Given the description of an element on the screen output the (x, y) to click on. 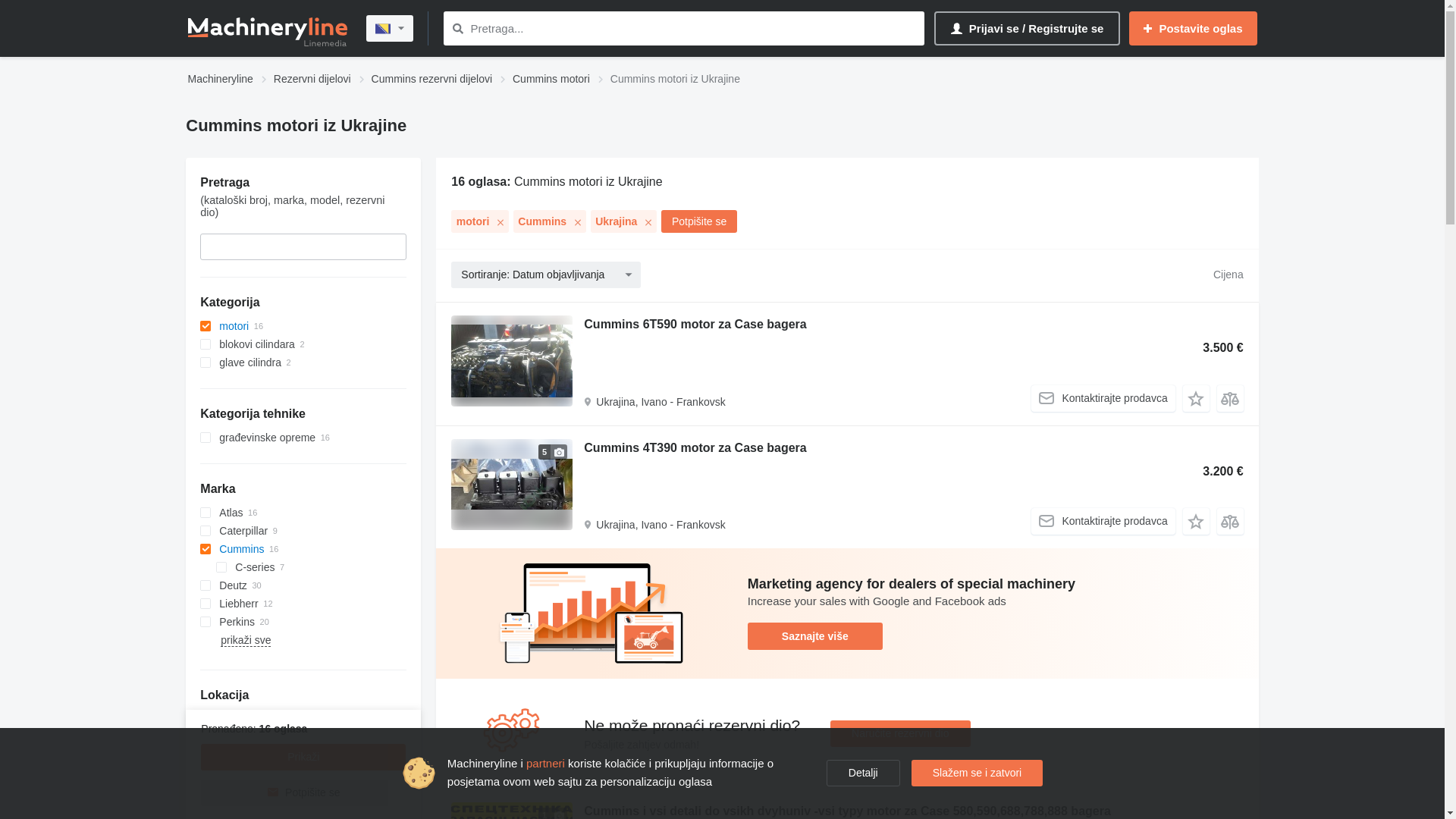
Cummins motori Element type: text (550, 79)
Cummins 4T390 motor za Case bagera Element type: text (694, 449)
Uporediti Element type: hover (1230, 398)
Dodati u izabrano Element type: hover (1196, 521)
Cummins 6T590 motor za Case bagera Element type: text (694, 326)
Cummins rezervni dijelovi Element type: text (431, 79)
Rezervni dijelovi Element type: text (312, 79)
Cijena Element type: text (1203, 274)
partneri Element type: text (545, 762)
Dodati u izabrano Element type: hover (1196, 398)
Machineryline Bosna i Hercegovina Element type: hover (267, 28)
Uporediti Element type: hover (1230, 521)
Machineryline Element type: text (220, 79)
